Given the description of an element on the screen output the (x, y) to click on. 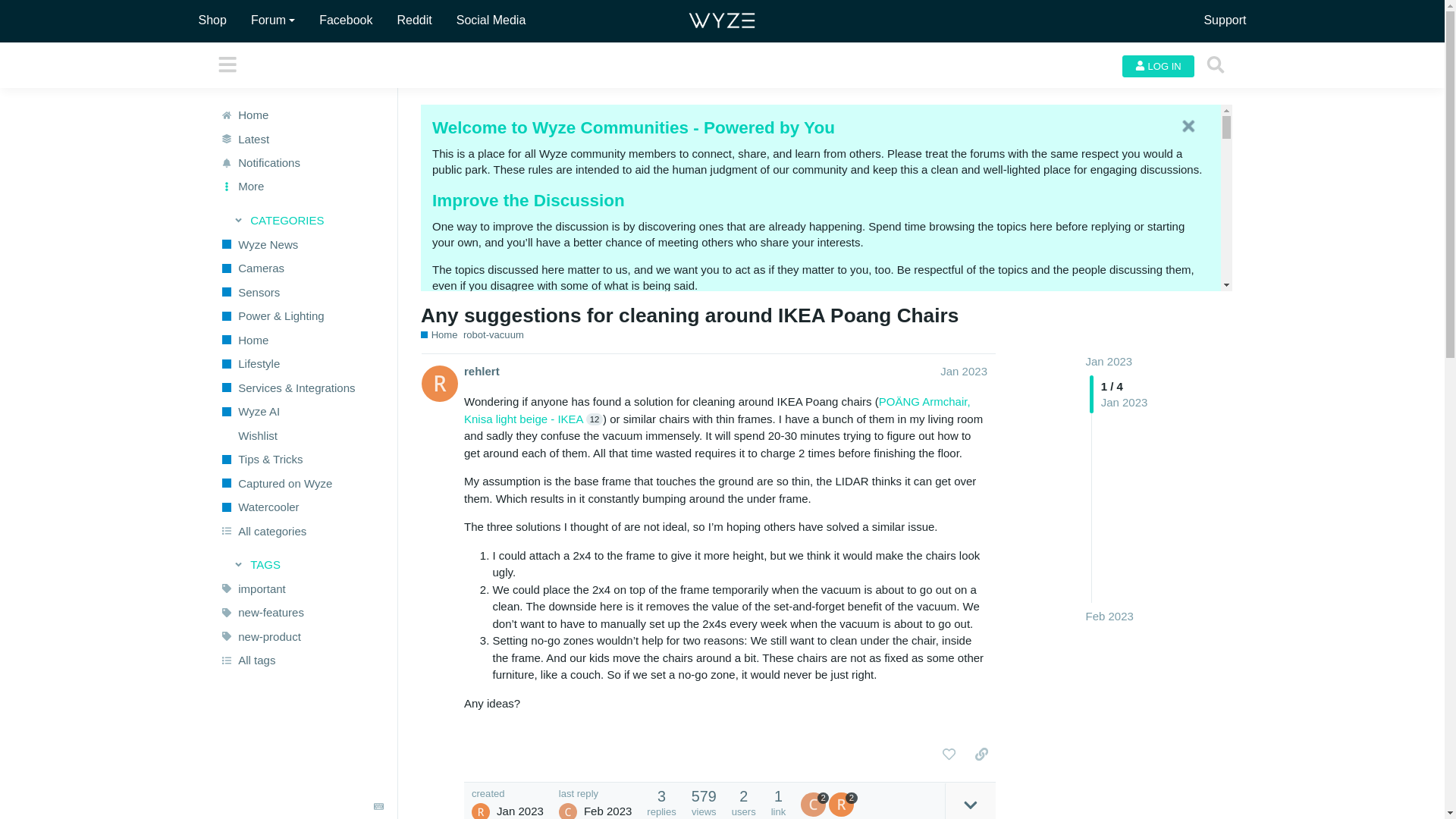
TAGS (301, 564)
Watercooler (301, 507)
Support (1225, 19)
Reddit (413, 19)
All categories (301, 530)
Notifications (301, 162)
Captured on Wyze (301, 482)
CATEGORIES (301, 219)
Sensors (301, 291)
Home (301, 115)
Facebook (345, 19)
Wishlist (301, 435)
